Given the description of an element on the screen output the (x, y) to click on. 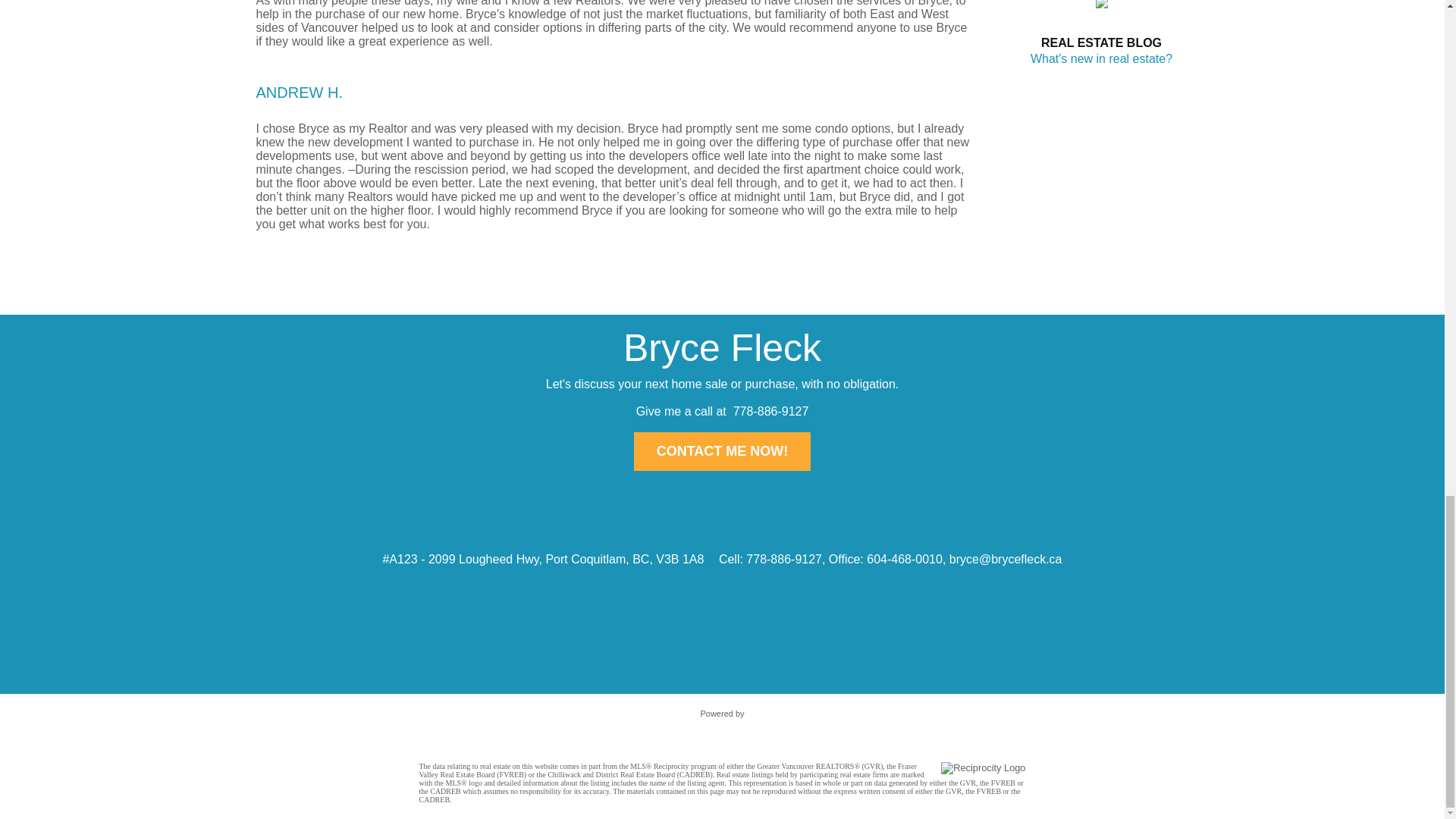
CONTACT ME NOW! (721, 450)
myRealPage.com (722, 728)
What's new in real estate? (1101, 58)
